Given the description of an element on the screen output the (x, y) to click on. 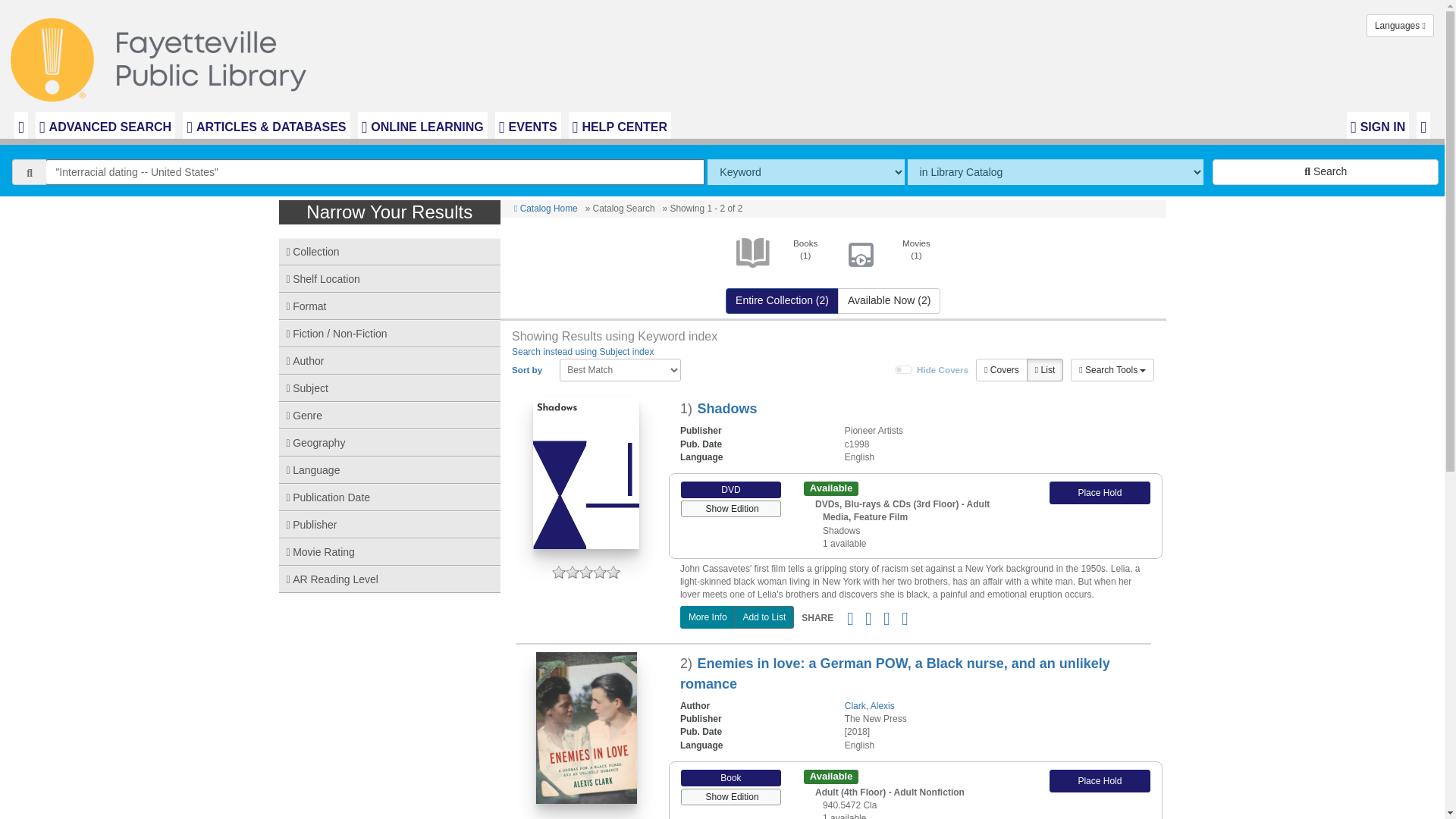
HELP CENTER (620, 125)
SIGN IN (1377, 125)
Languages  (1400, 25)
 Search (1325, 171)
Login (1377, 125)
EVENTS (527, 125)
"Interracial dating -- United States" (375, 171)
ADVANCED SEARCH (104, 125)
The method of searching. (805, 171)
on (903, 369)
ONLINE LEARNING (422, 125)
Library Home Page (162, 55)
